Given the description of an element on the screen output the (x, y) to click on. 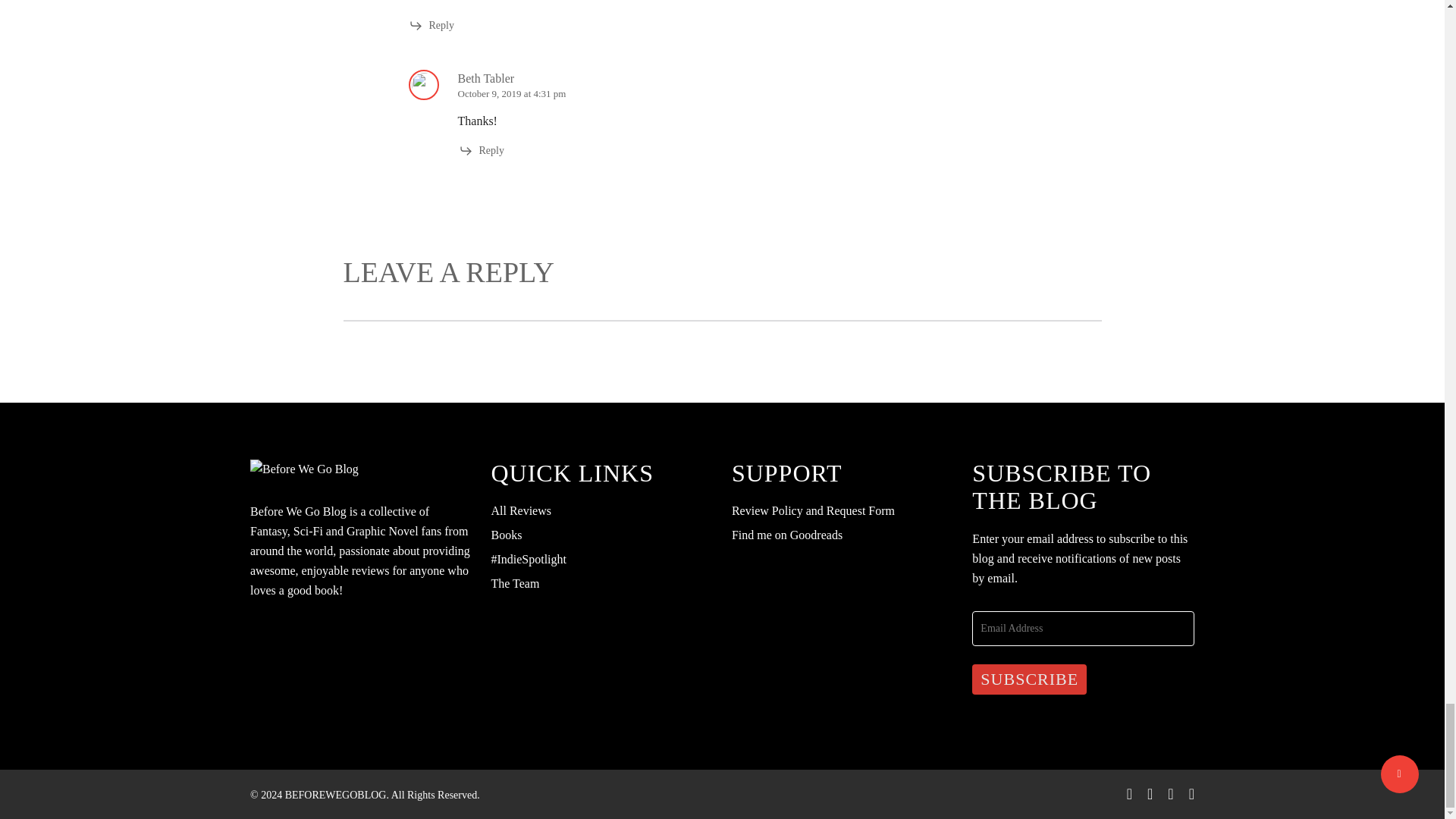
Subscribe (1029, 679)
